Given the description of an element on the screen output the (x, y) to click on. 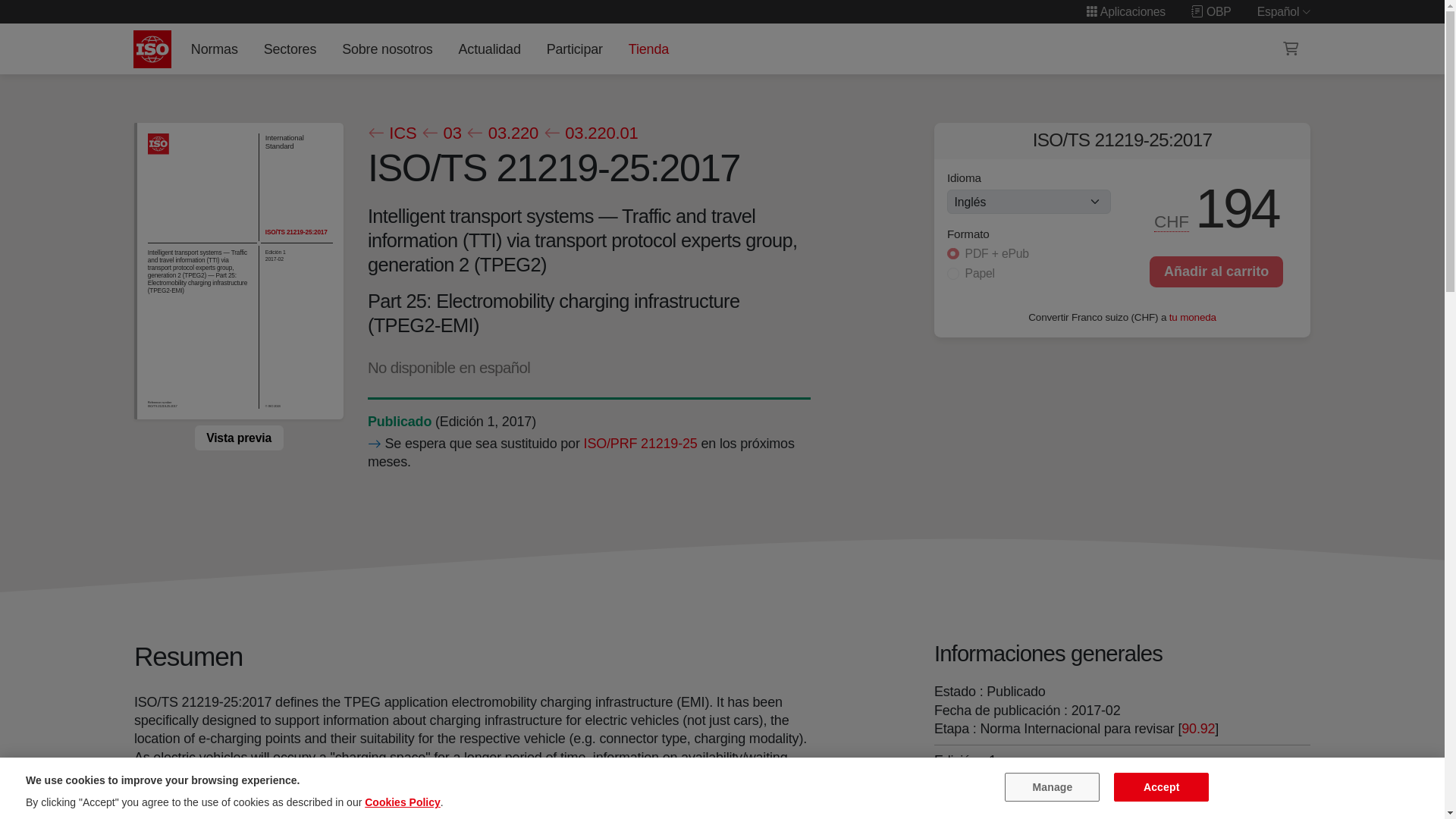
Carro de la compra (1290, 49)
03.220 (501, 133)
Ciclo de vida (398, 421)
90.92 (1198, 728)
Normas (214, 48)
Participar (574, 48)
Francos suizos (1171, 221)
Sectores (290, 48)
 OBP (1211, 11)
tu moneda (1192, 316)
ICS (391, 133)
Vista previa (237, 437)
